Given the description of an element on the screen output the (x, y) to click on. 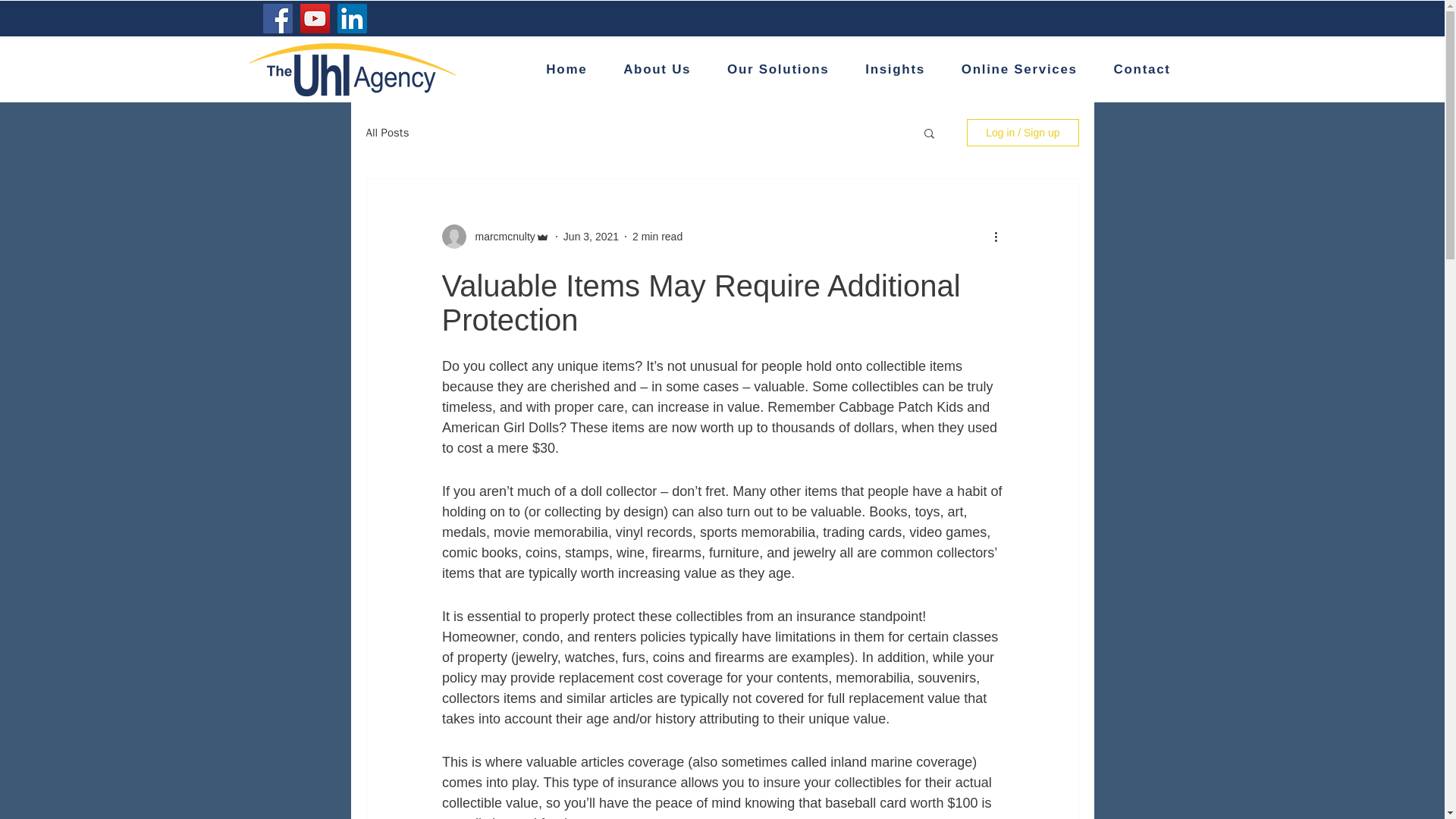
All Posts (387, 133)
Contact (1142, 70)
2 min read (656, 236)
Home (566, 70)
About Us (657, 70)
Jun 3, 2021 (590, 236)
marcmcnulty (499, 236)
Our Solutions (777, 70)
Online Services (1019, 70)
Insights (895, 70)
